Given the description of an element on the screen output the (x, y) to click on. 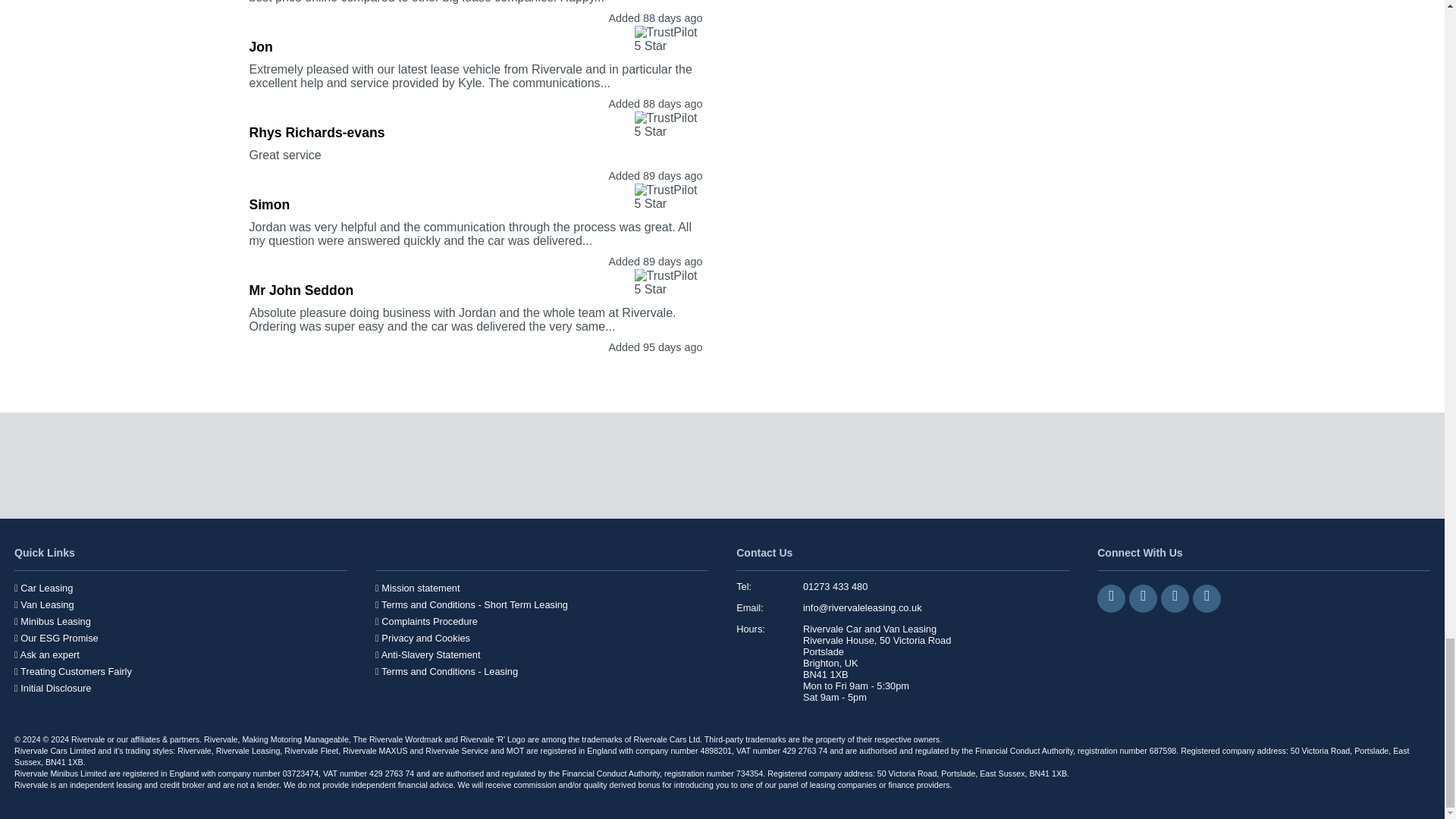
Santander (1097, 465)
Millbrook Technology (1224, 465)
Leasys (842, 465)
LeasePlan (715, 465)
Novuna Vehicle Solutions (970, 465)
Alphabet (332, 465)
